Given the description of an element on the screen output the (x, y) to click on. 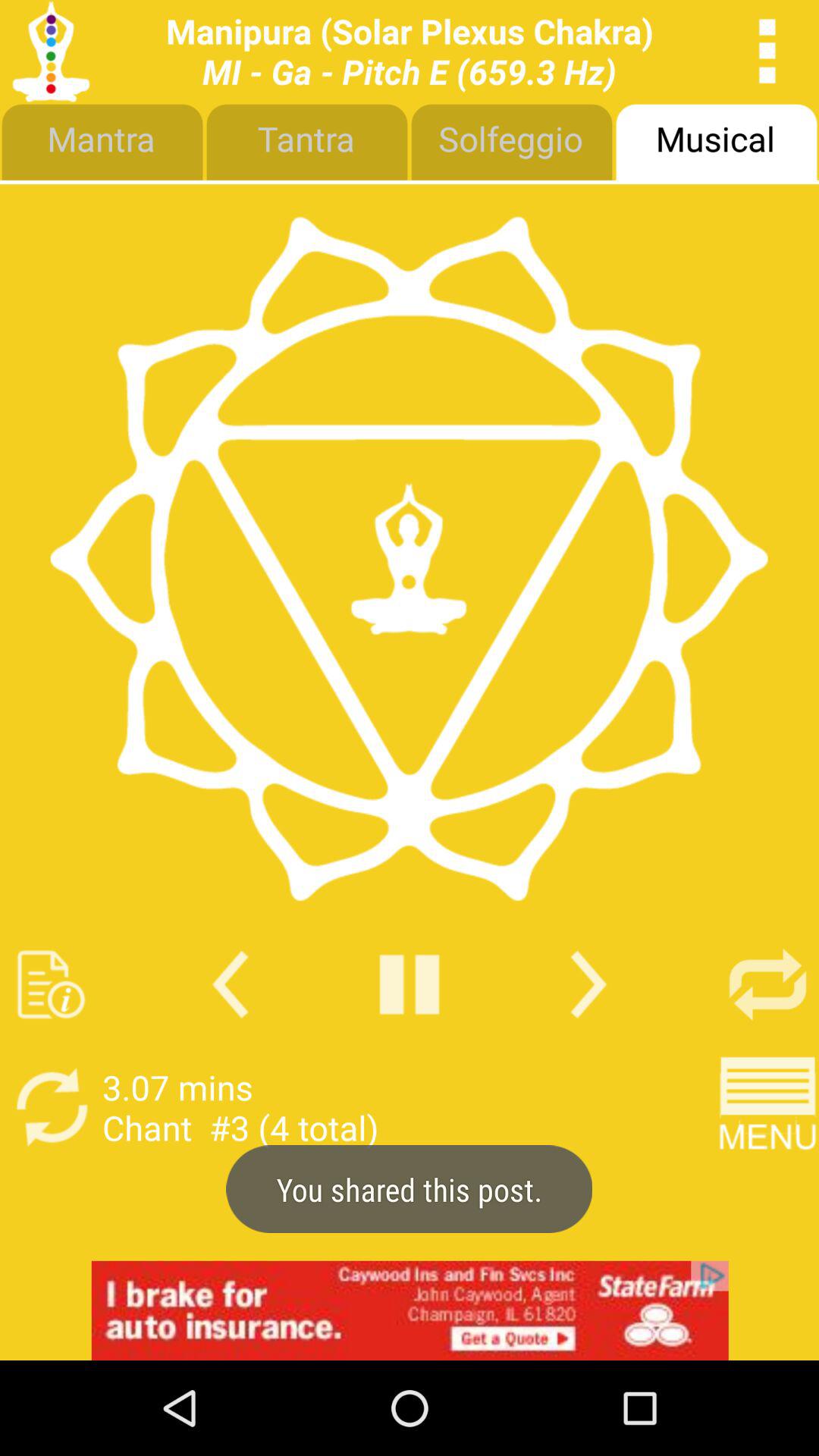
go next (588, 984)
